Given the description of an element on the screen output the (x, y) to click on. 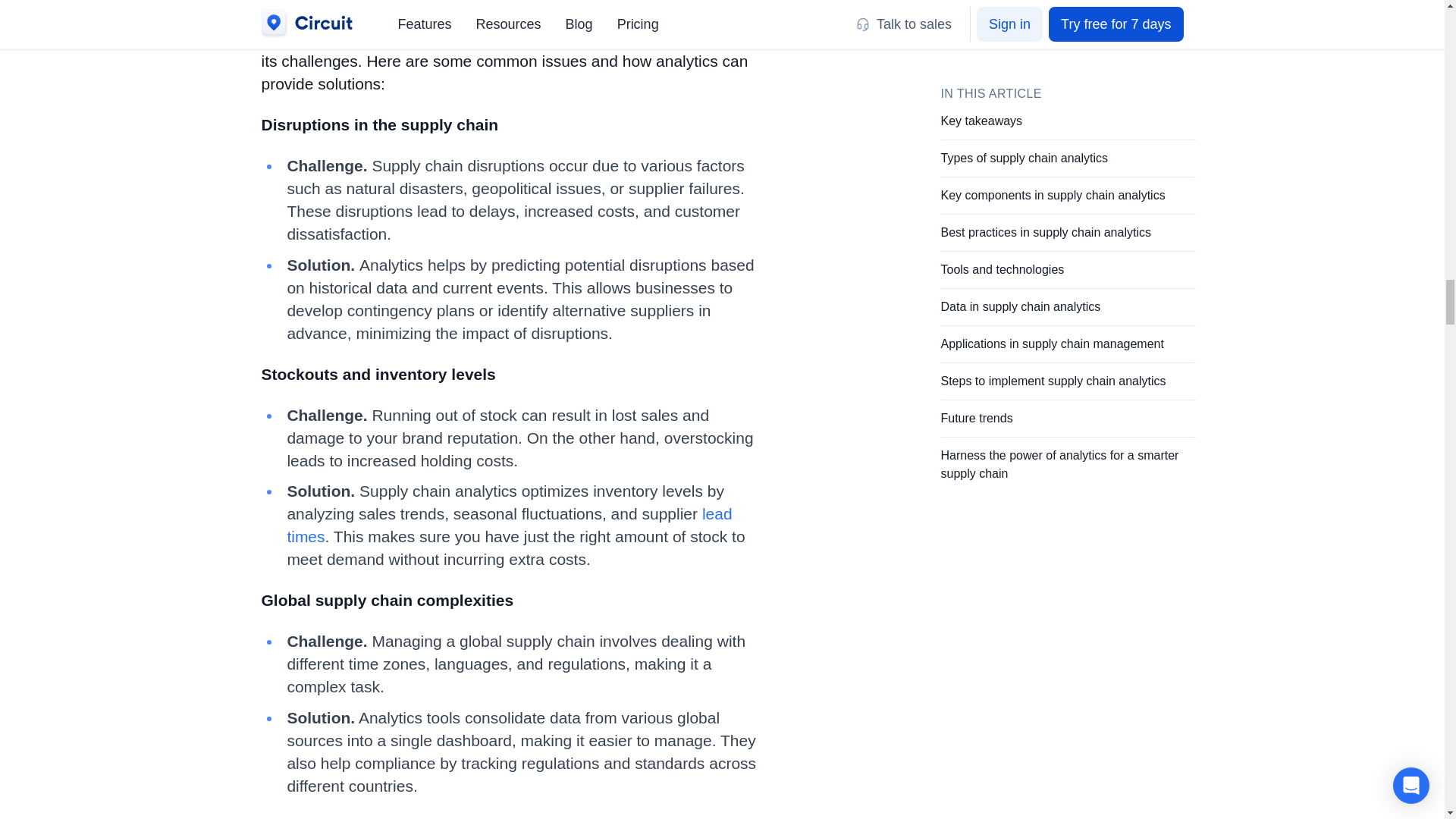
lead times (509, 525)
